Given the description of an element on the screen output the (x, y) to click on. 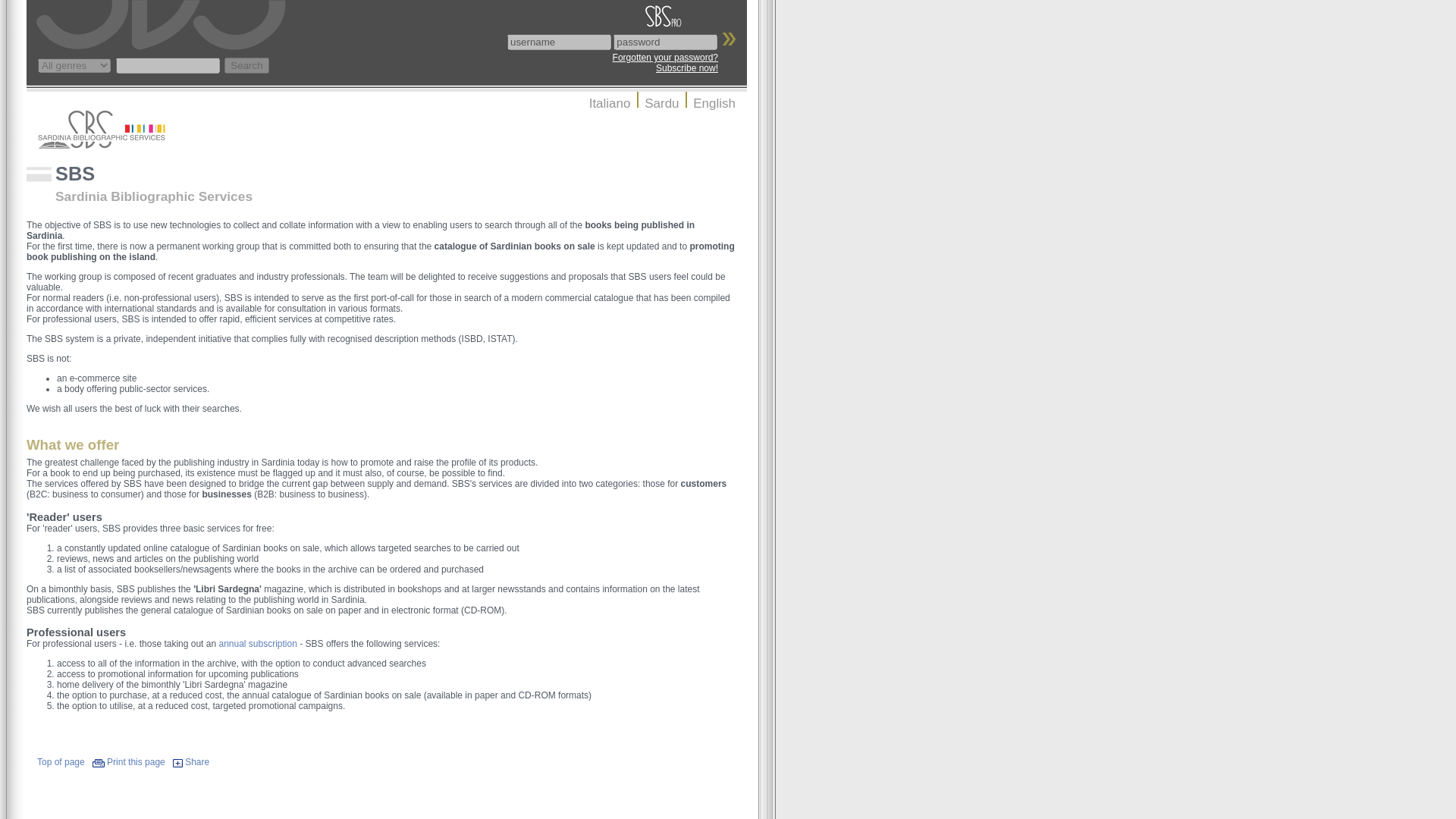
Italiano (609, 103)
Search (245, 65)
Forgotten your password? (664, 57)
password (664, 41)
Subscribe now! (686, 68)
username (558, 41)
Print this page (135, 761)
Share (196, 761)
Top of current page (55, 761)
annual subscription (257, 643)
Sardu (661, 103)
Top of page (55, 761)
English (714, 103)
Print the current page (135, 761)
Search (245, 65)
